Given the description of an element on the screen output the (x, y) to click on. 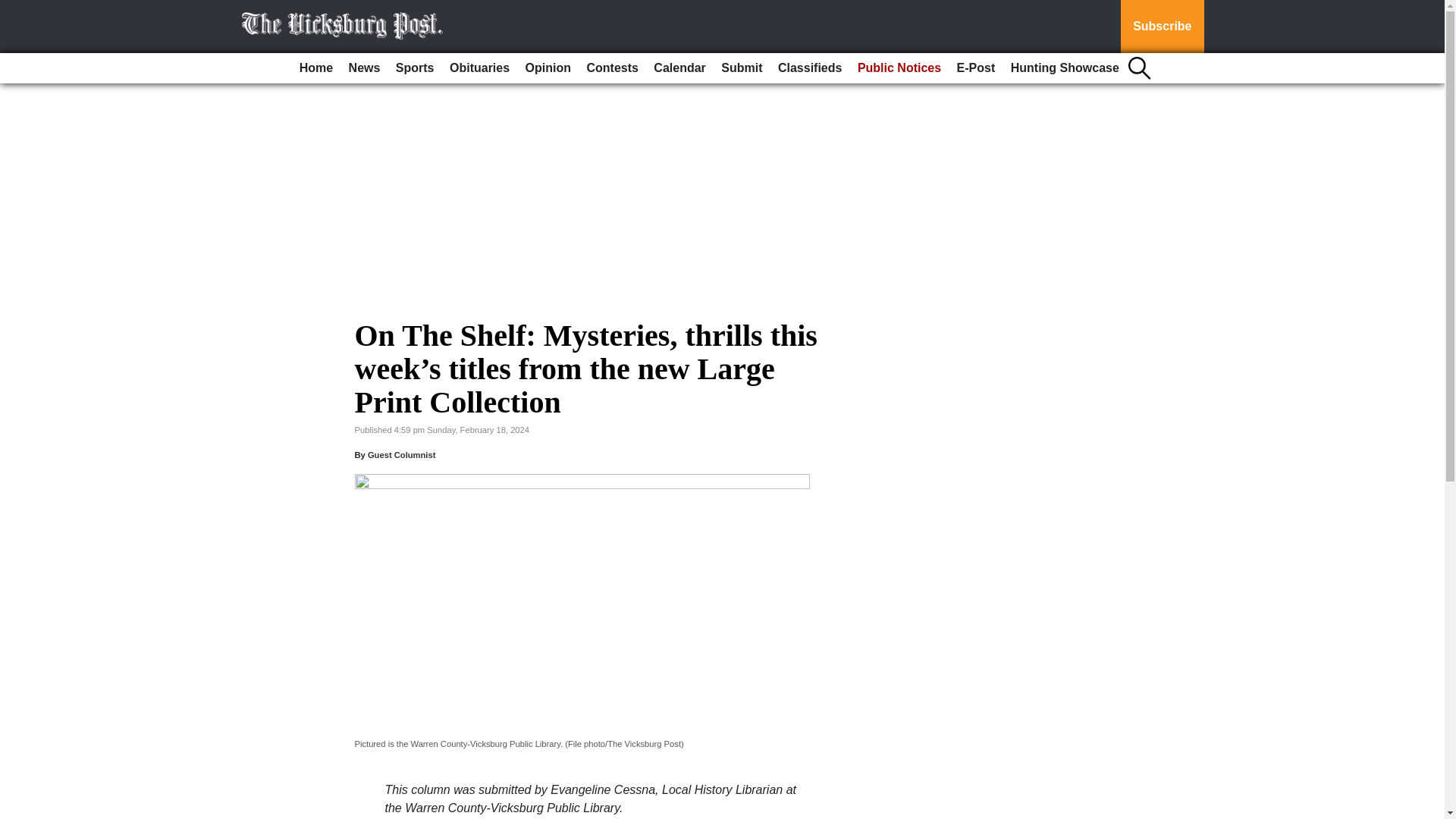
Calendar (679, 68)
Public Notices (899, 68)
Subscribe (1162, 26)
Go (13, 9)
Contests (611, 68)
Guest Columnist (401, 454)
Sports (415, 68)
Submit (741, 68)
Opinion (547, 68)
E-Post (975, 68)
